Given the description of an element on the screen output the (x, y) to click on. 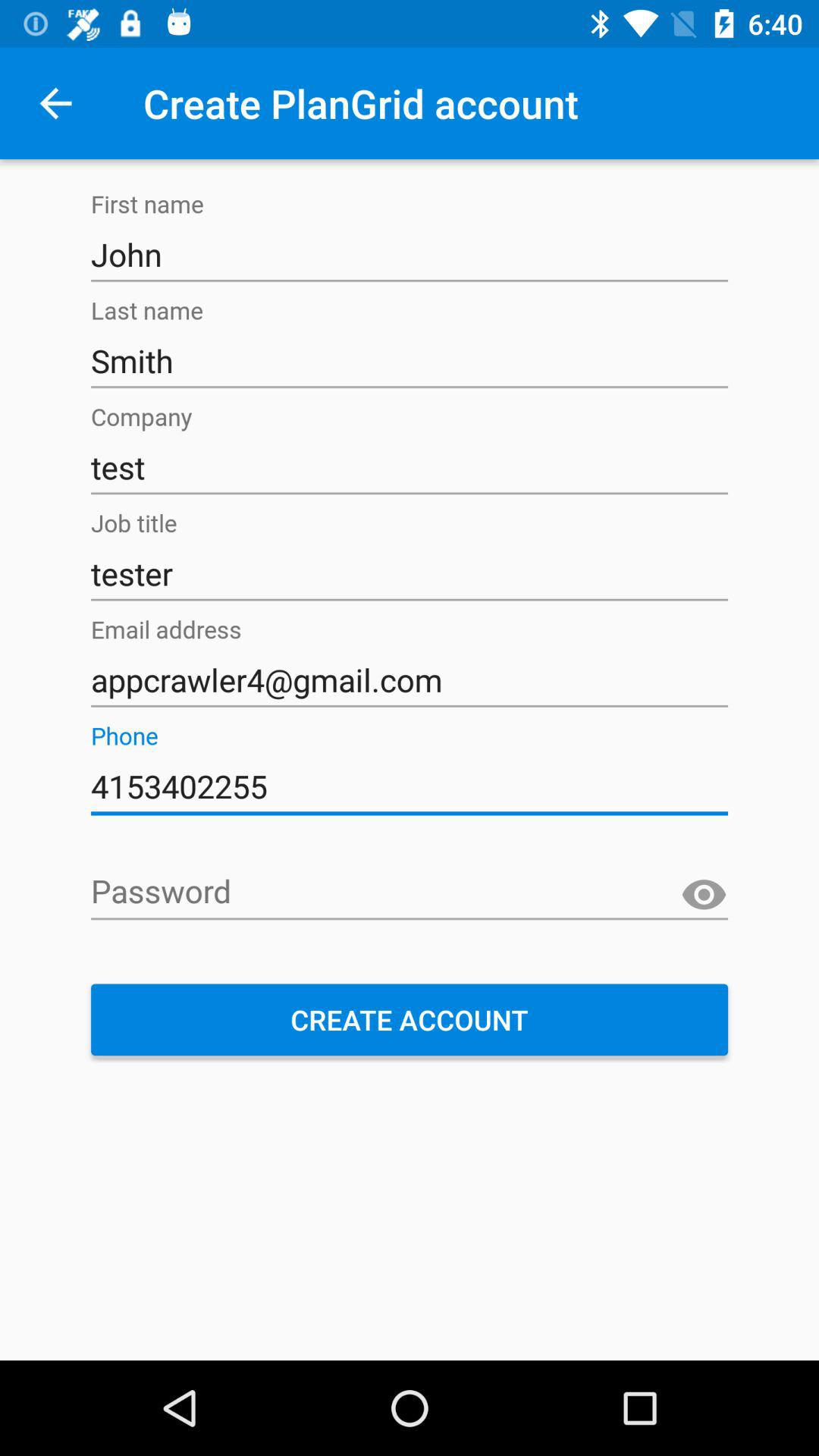
turn off item below 4153402255 item (409, 892)
